Given the description of an element on the screen output the (x, y) to click on. 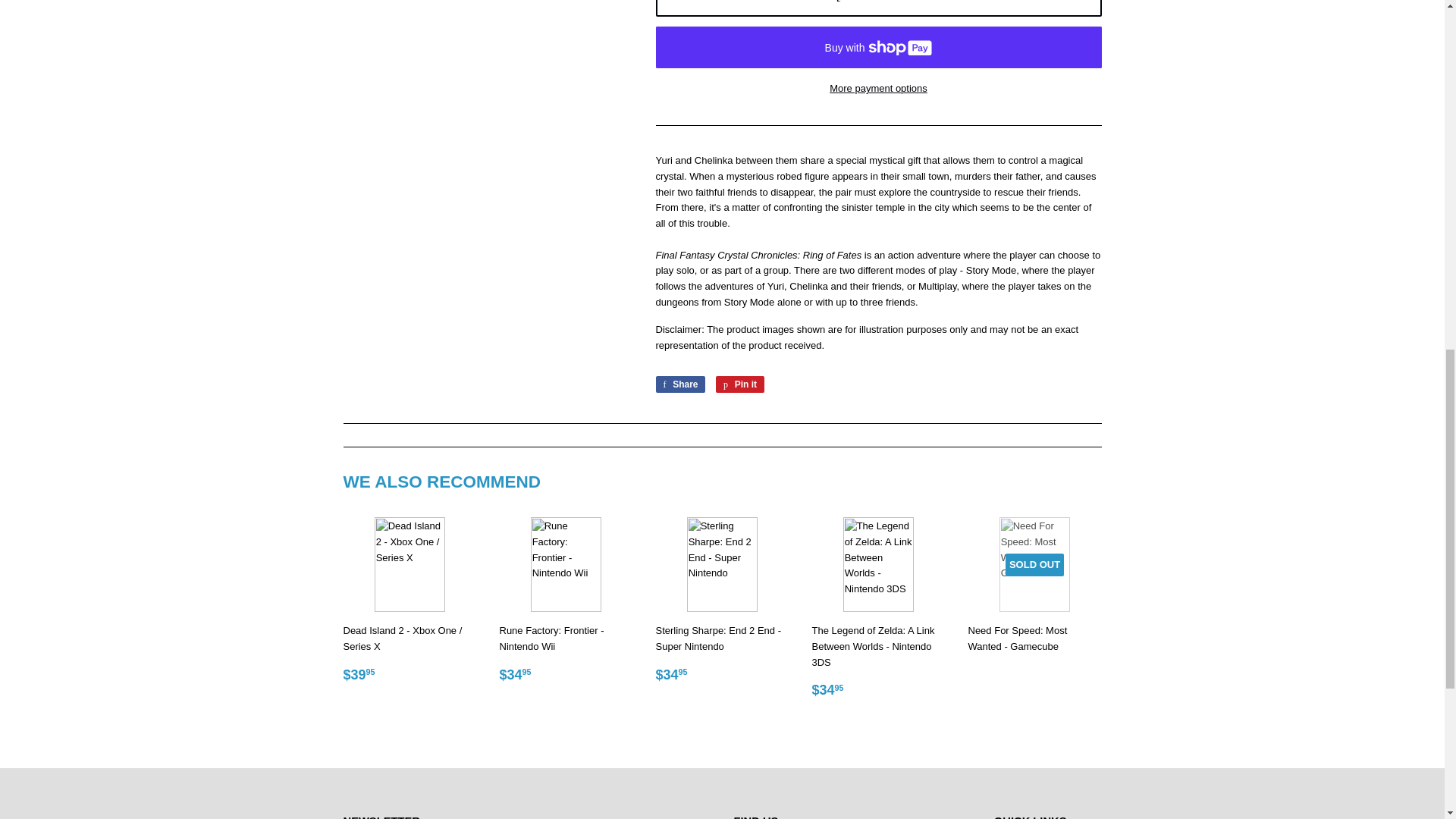
Pin on Pinterest (740, 384)
Share on Facebook (679, 384)
